Given the description of an element on the screen output the (x, y) to click on. 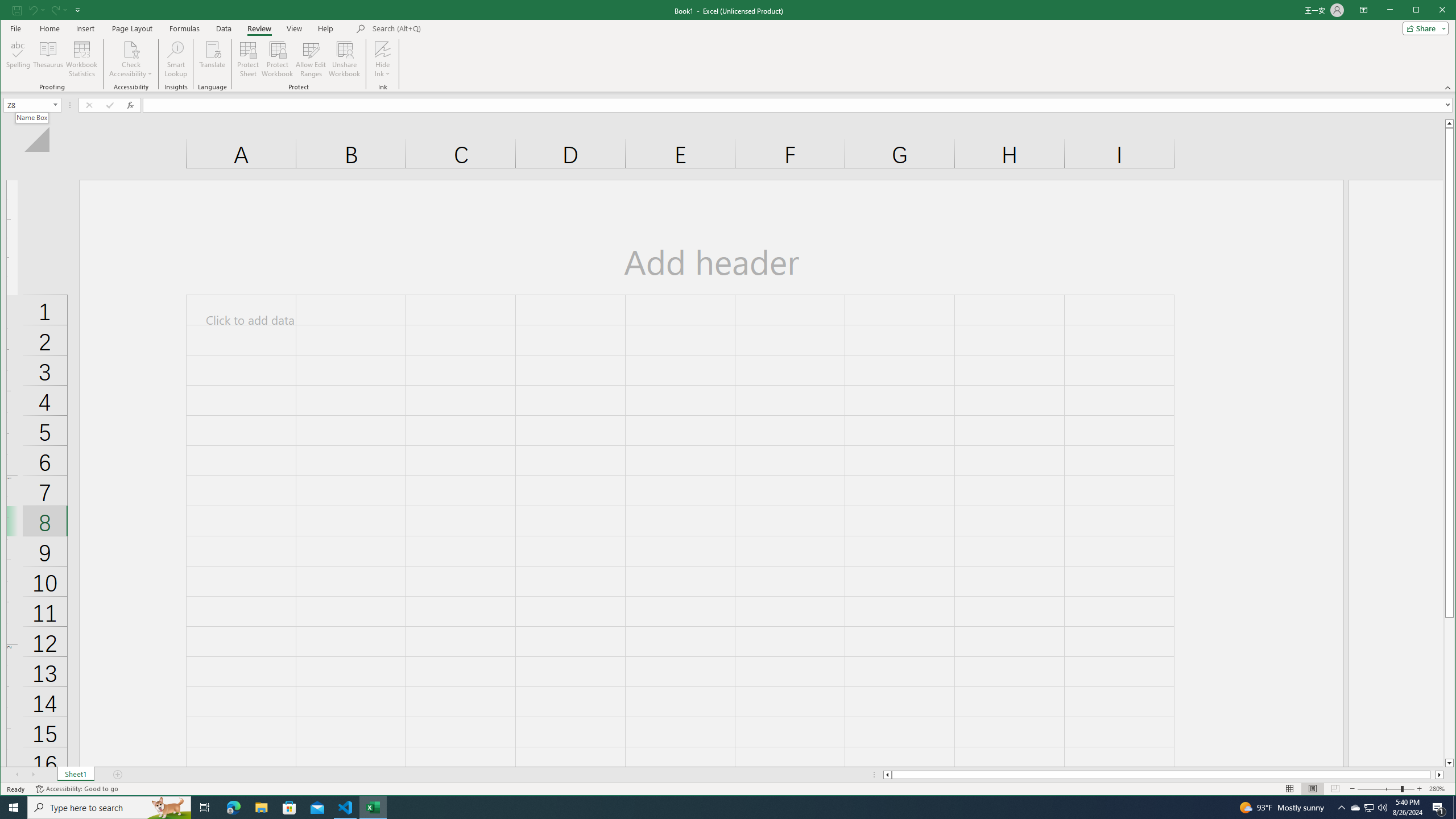
Notification Chevron (1341, 807)
Unshare Workbook (344, 59)
Protect Sheet... (247, 59)
